Given the description of an element on the screen output the (x, y) to click on. 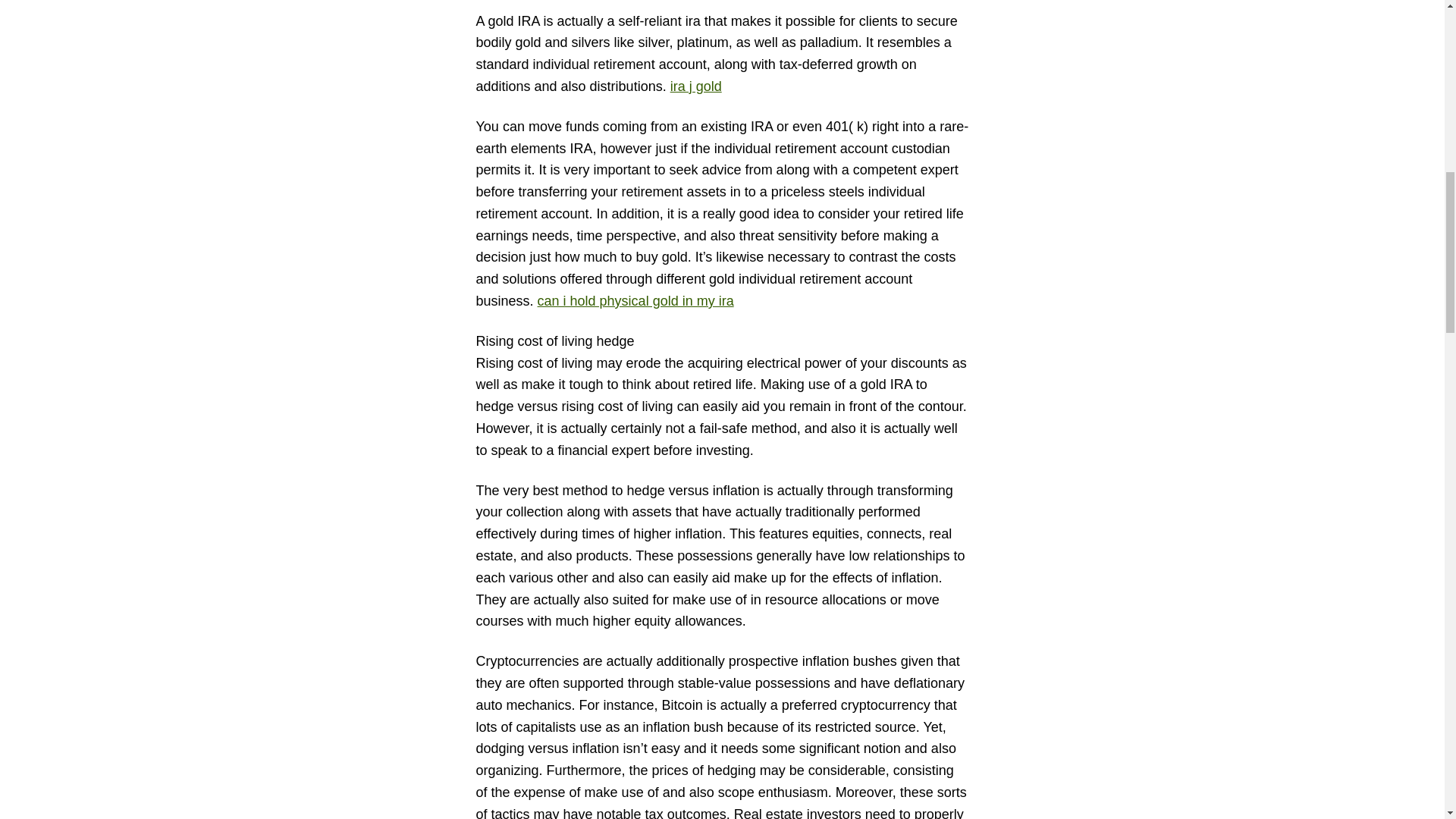
can i hold physical gold in my ira (635, 300)
ira j gold (695, 86)
